Given the description of an element on the screen output the (x, y) to click on. 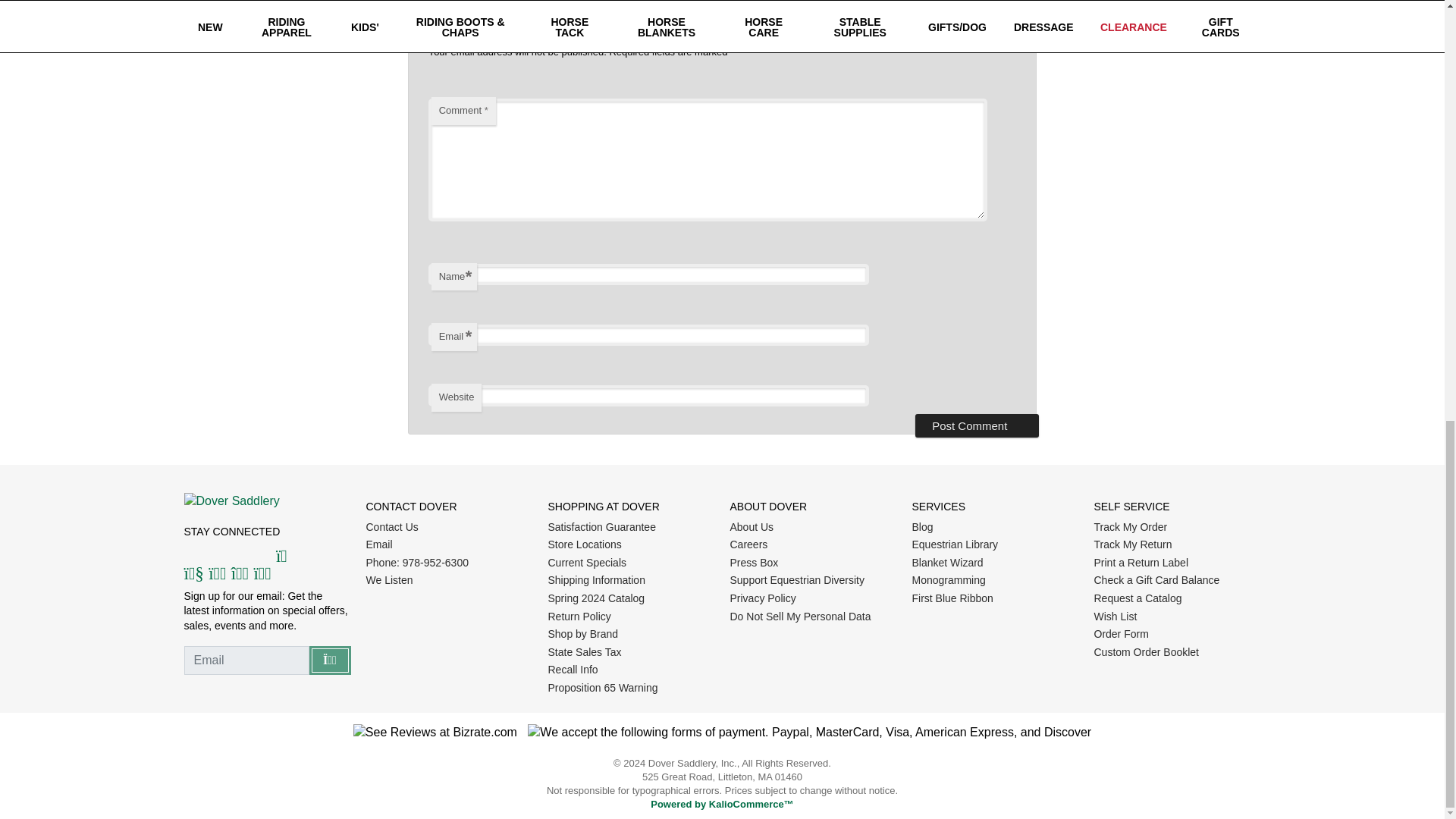
Post Comment (977, 425)
